Given the description of an element on the screen output the (x, y) to click on. 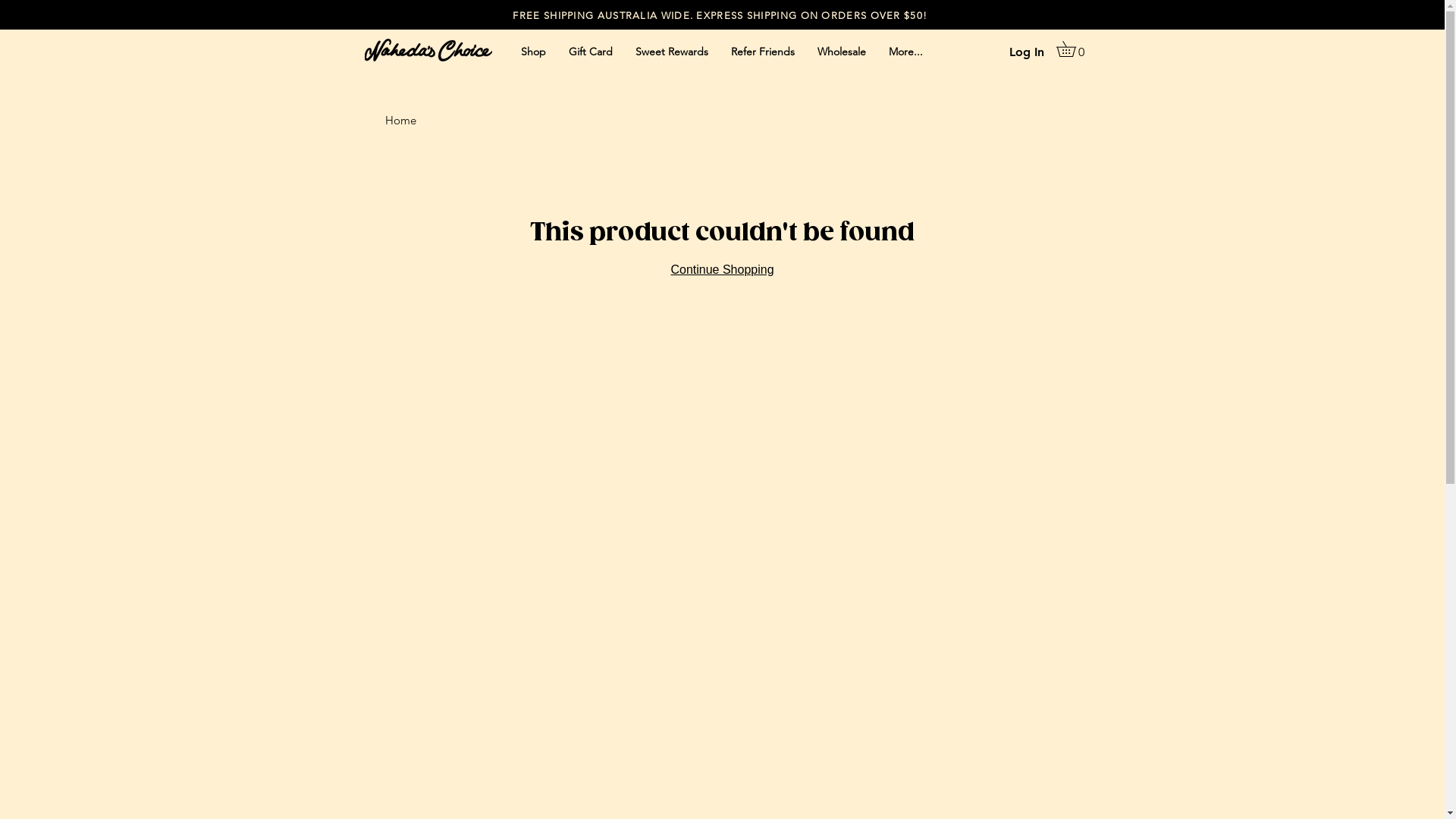
Shop Element type: text (533, 51)
Log In Element type: text (1025, 52)
Wholesale Element type: text (840, 51)
Refer Friends Element type: text (761, 51)
Home Element type: text (400, 119)
Sweet Rewards Element type: text (670, 51)
Gift Card Element type: text (589, 51)
Continue Shopping Element type: text (721, 269)
0 Element type: text (1072, 48)
